Given the description of an element on the screen output the (x, y) to click on. 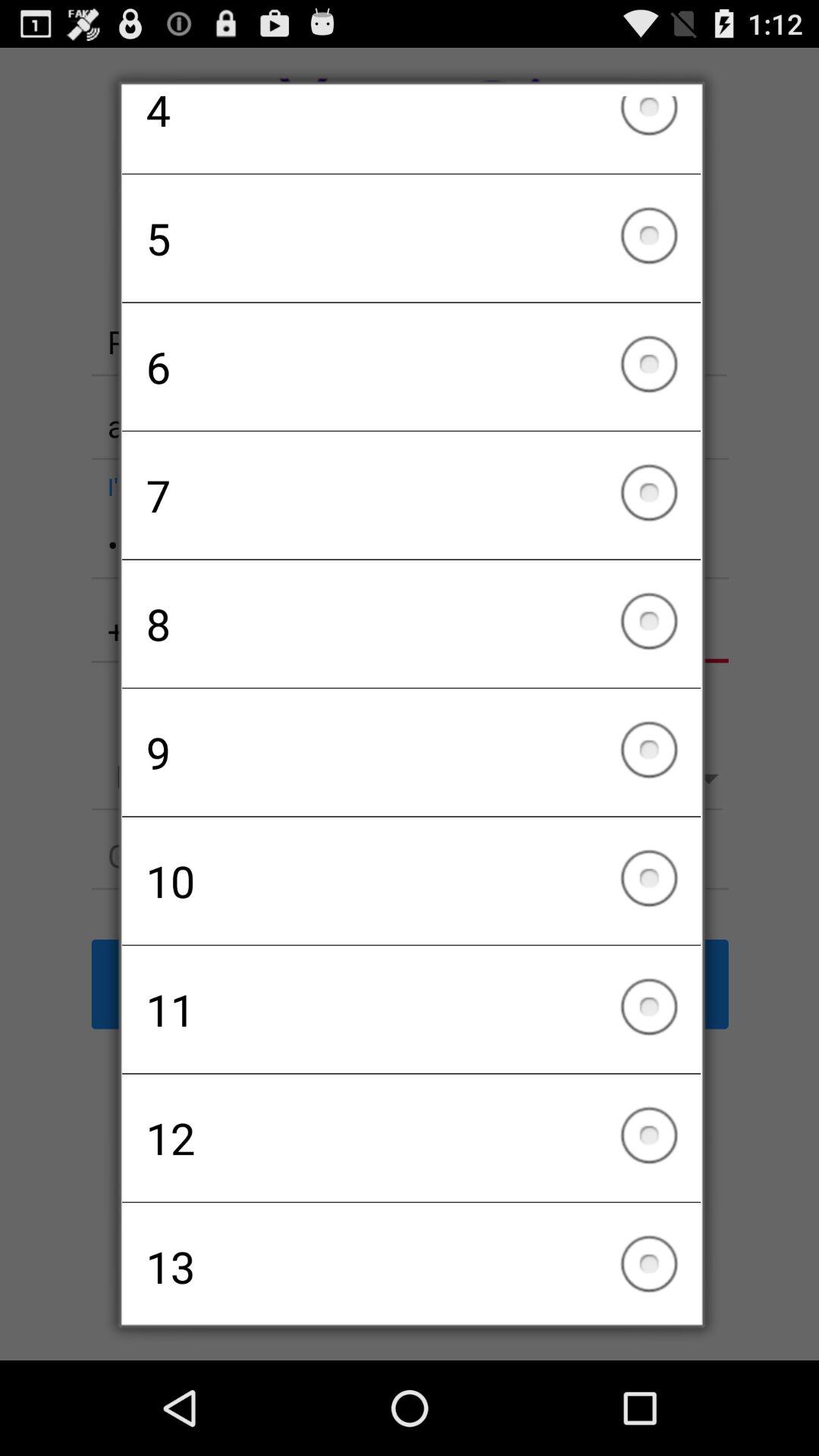
flip to the 4 item (411, 134)
